Given the description of an element on the screen output the (x, y) to click on. 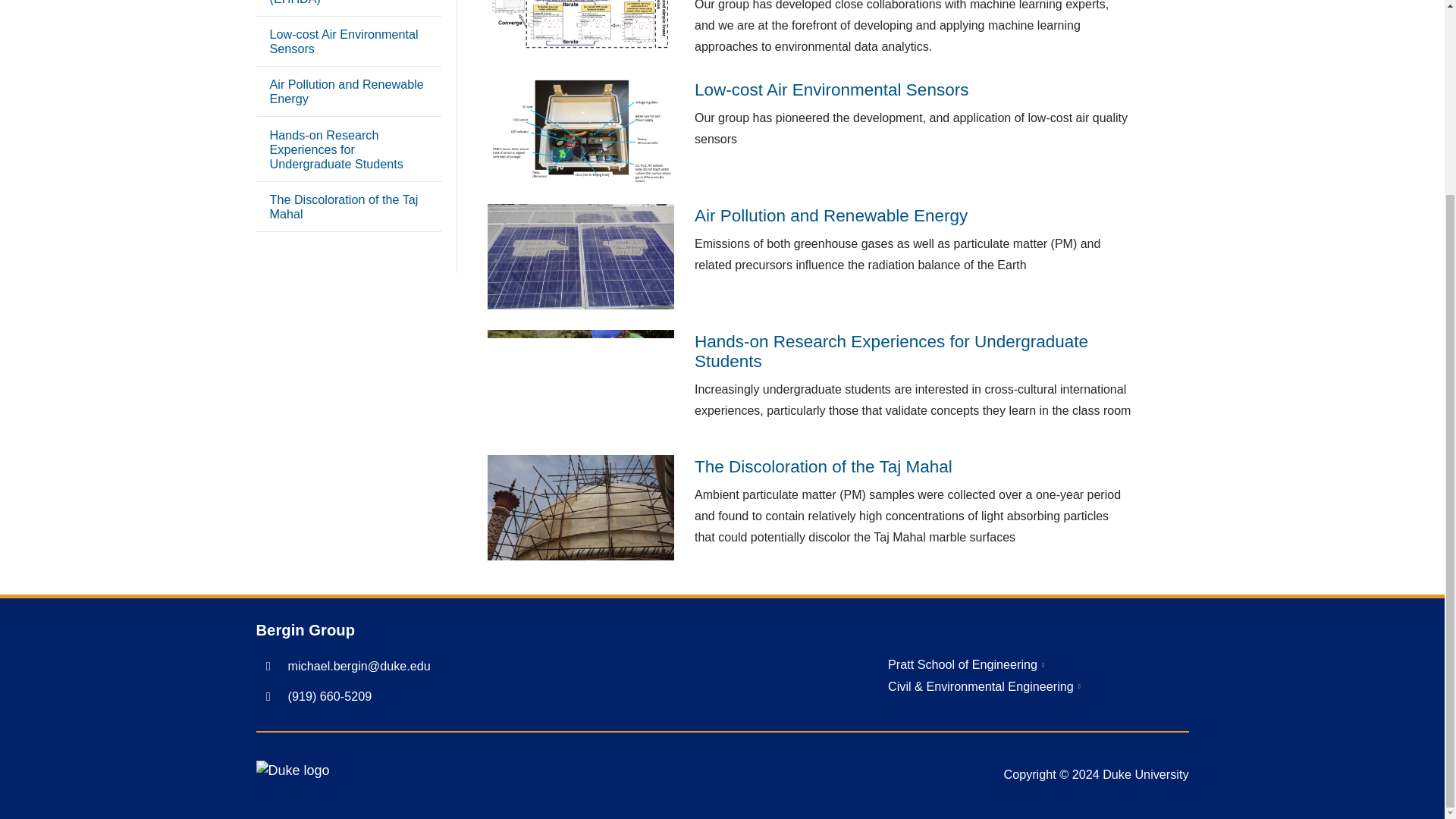
Pratt School of Engineering (965, 663)
Low-cost Air Environmental Sensors (348, 41)
Air Pollution and Renewable Energy (348, 91)
The Discoloration of the Taj Mahal (348, 206)
Hands-on Research Experiences for Undergraduate Students (348, 148)
